Given the description of an element on the screen output the (x, y) to click on. 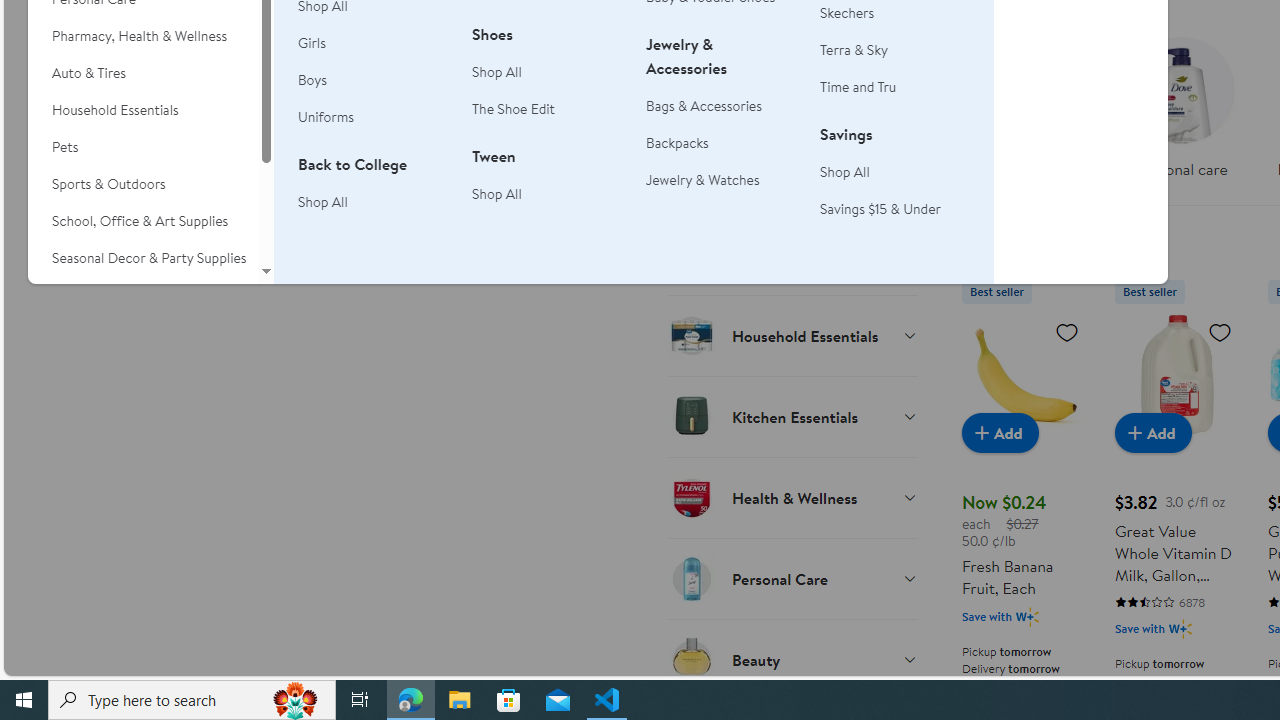
Personal Care (792, 578)
The Shoe Edit (513, 108)
Grab & Go (792, 254)
Time and Tru (895, 87)
Add to cart - Fresh Banana Fruit, Each (1000, 431)
Beauty (792, 659)
Backpacks (721, 143)
ShoesShop AllThe Shoe Edit (547, 83)
Household Essentials (792, 335)
Jewelry & Watches (721, 179)
The Shoe Edit (547, 109)
